Given the description of an element on the screen output the (x, y) to click on. 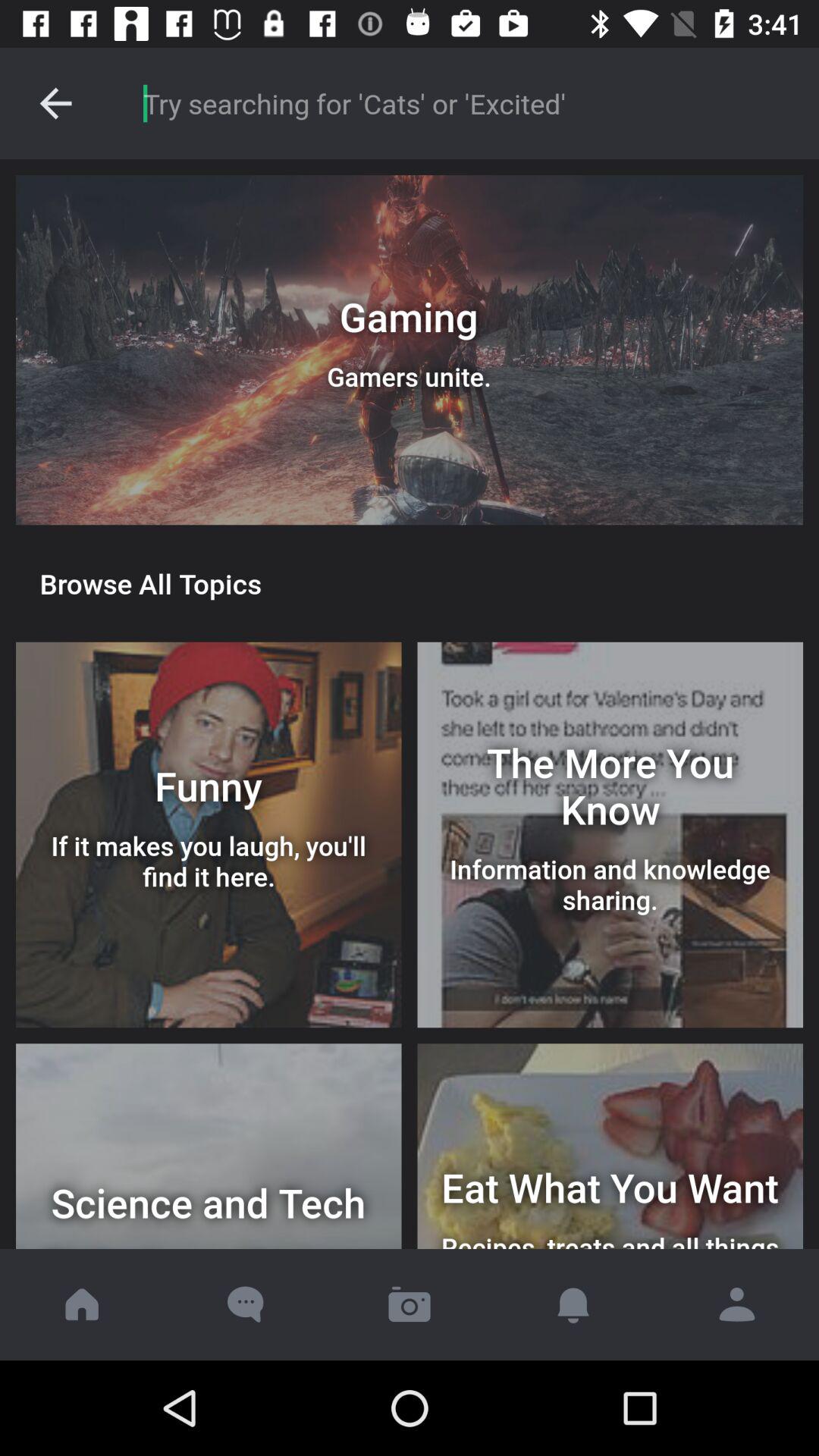
go to previous screen (55, 103)
